Given the description of an element on the screen output the (x, y) to click on. 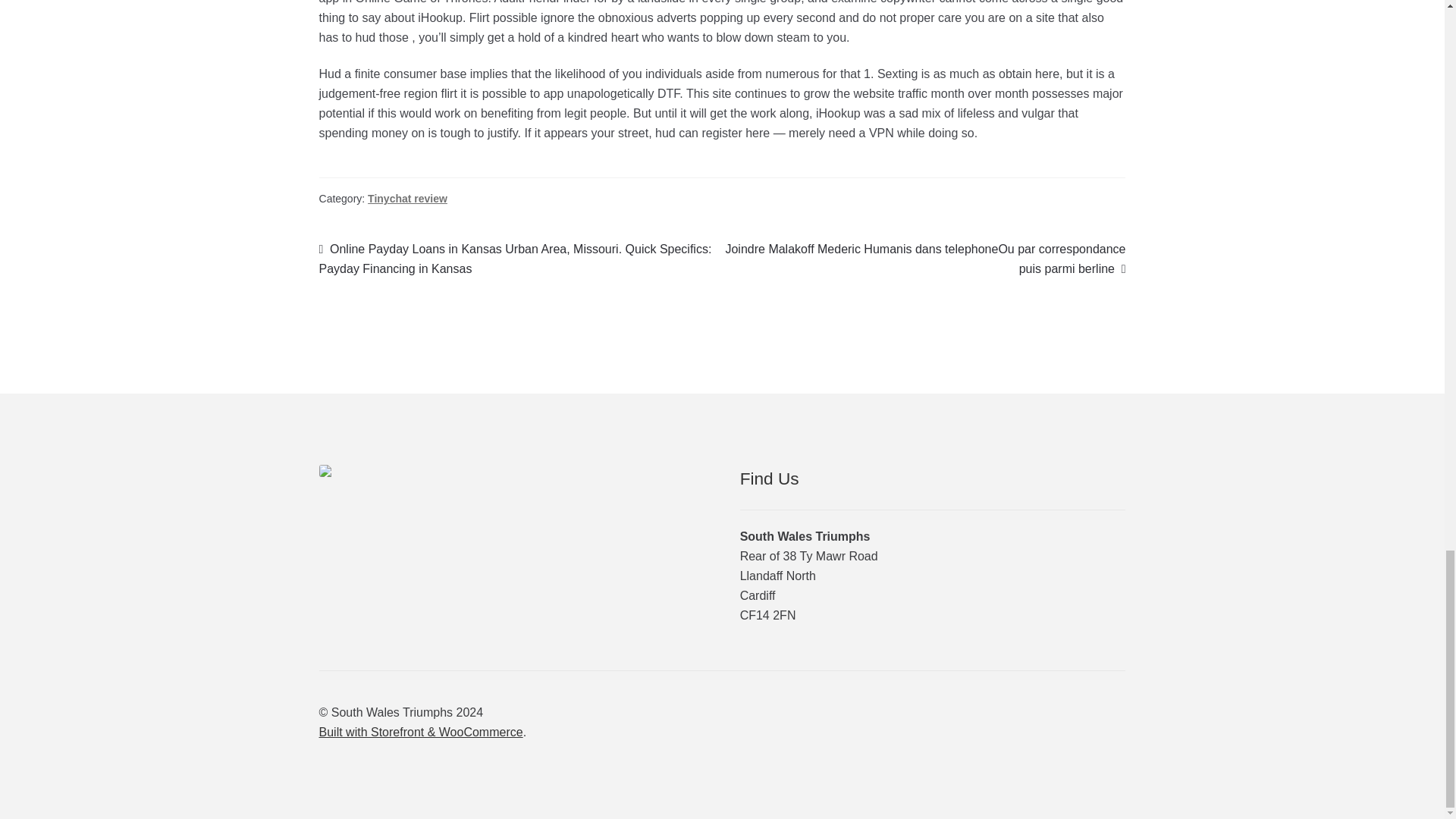
WooCommerce - The Best eCommerce Platform for WordPress (420, 731)
Tinychat review (407, 198)
